Given the description of an element on the screen output the (x, y) to click on. 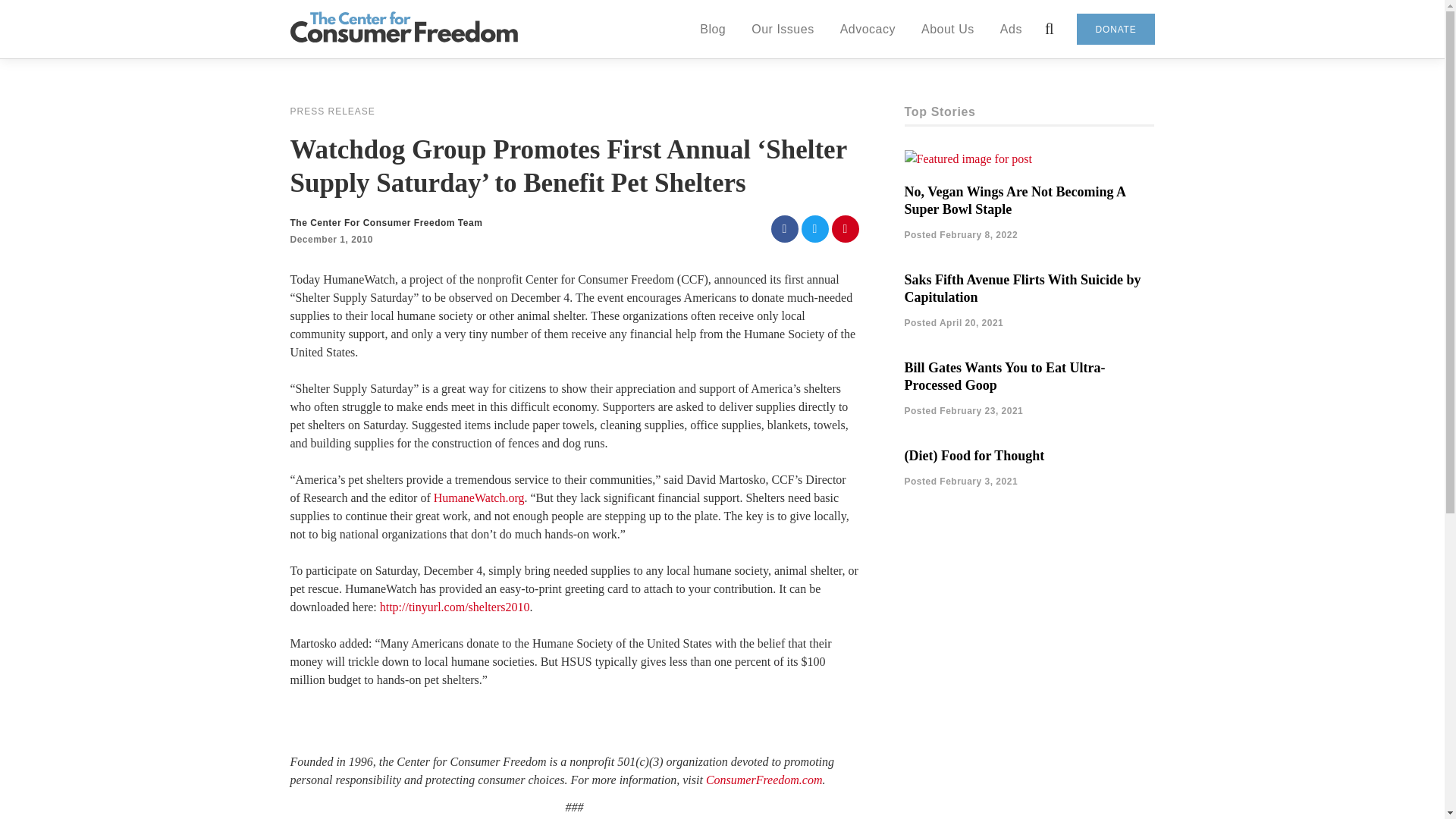
Advocacy (867, 28)
About Us (947, 28)
ConsumerFreedom.com (764, 779)
HumaneWatch.org (478, 497)
Saks Fifth Avenue Flirts With Suicide by Capitulation (1022, 287)
No, Vegan Wings Are Not Becoming A Super Bowl Staple (1014, 200)
Bill Gates Wants You to Eat Ultra-Processed Goop (1004, 376)
Share on Facebook (783, 228)
Share on Twitter (814, 228)
Our Issues (782, 28)
